Given the description of an element on the screen output the (x, y) to click on. 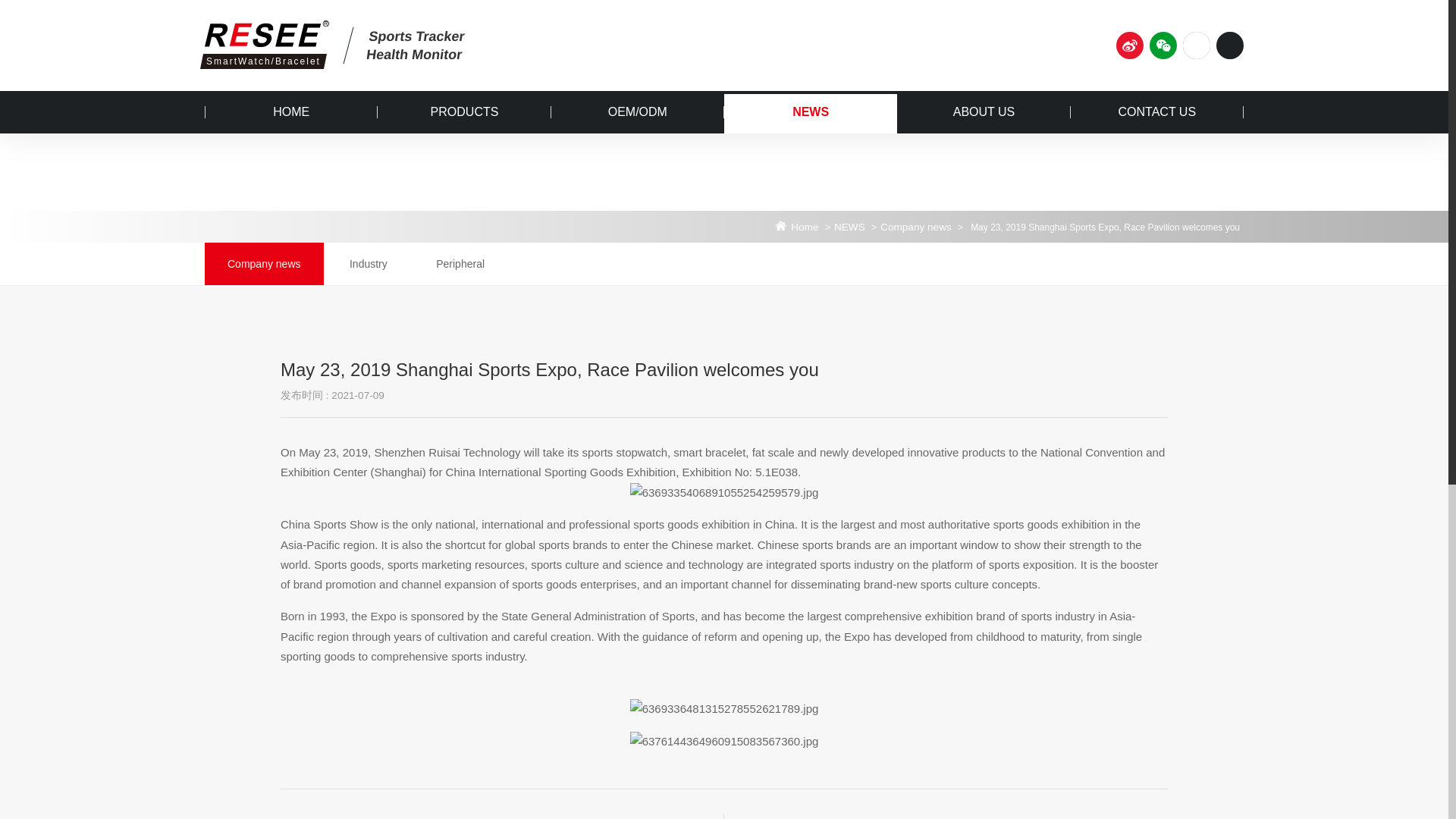
CONTACT US (1156, 111)
Company news (916, 226)
Peripheral (459, 263)
PRODUCTS (463, 111)
PRODUCTS (463, 111)
Company news (264, 263)
Peripheral (459, 263)
Company news (916, 226)
CONTACT US (1156, 111)
NEWS (809, 111)
